Given the description of an element on the screen output the (x, y) to click on. 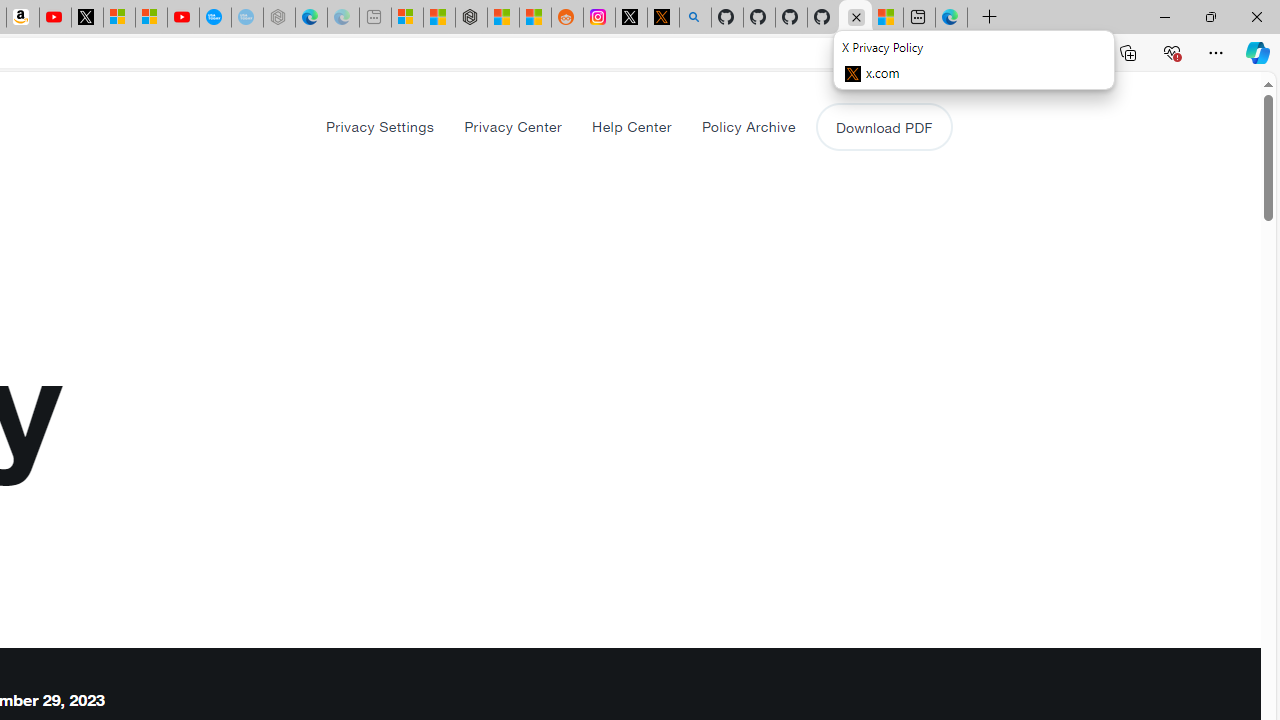
github - Search (694, 17)
Policy Archive (747, 126)
X Privacy Policy (855, 17)
help.x.com | 524: A timeout occurred (663, 17)
